Given the description of an element on the screen output the (x, y) to click on. 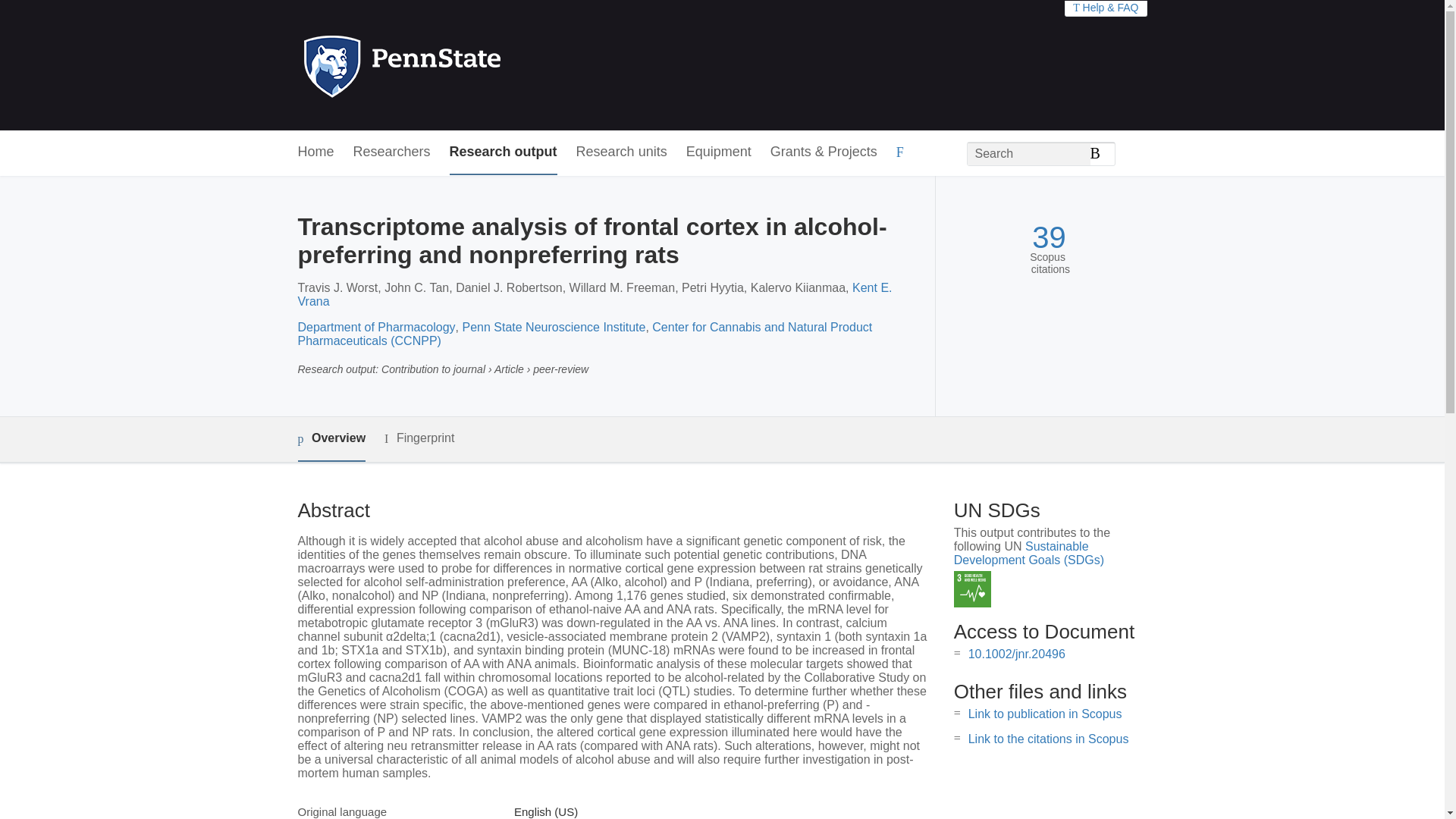
Department of Pharmacology (375, 327)
Research output (503, 152)
Link to publication in Scopus (1045, 713)
Link to the citations in Scopus (1048, 738)
SDG 3 - Good Health and Well-being (972, 589)
Kent E. Vrana (594, 294)
Overview (331, 438)
Research units (621, 152)
39 (1048, 237)
Penn State Home (467, 65)
Equipment (718, 152)
Fingerprint (419, 438)
Researchers (391, 152)
Home (315, 152)
